Given the description of an element on the screen output the (x, y) to click on. 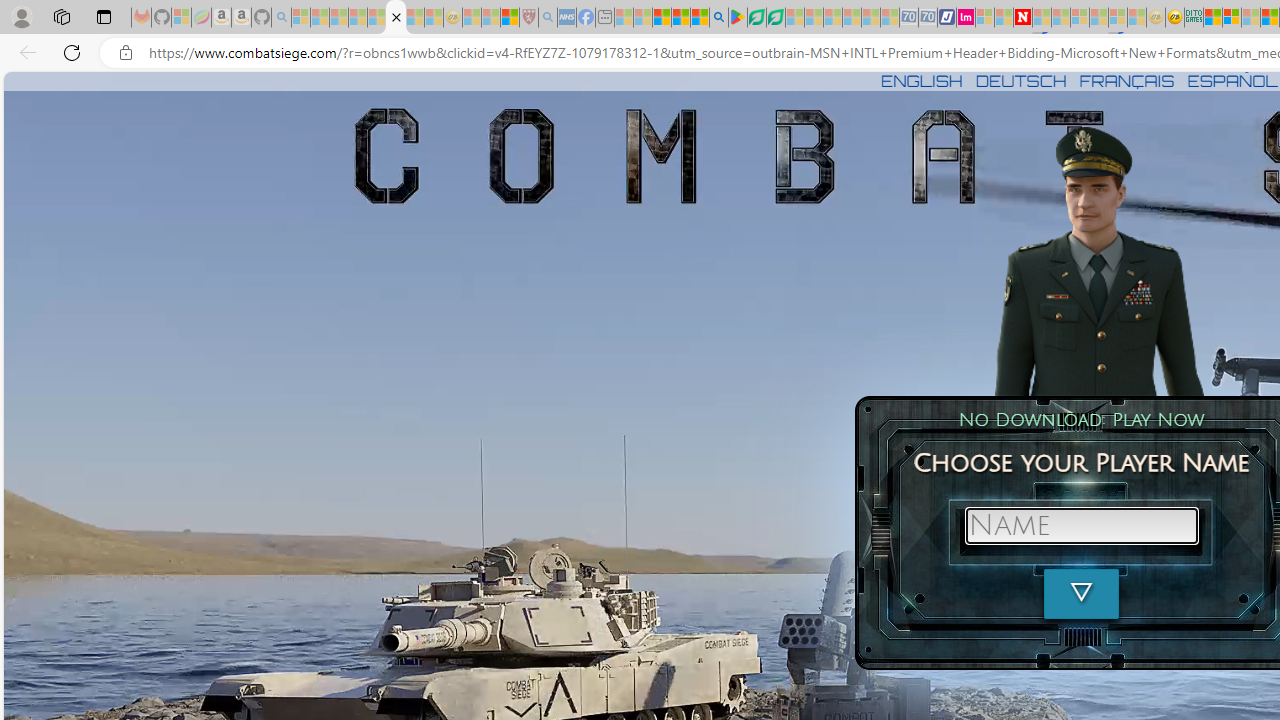
DEUTSCH (1021, 80)
Trusted Community Engagement and Contributions | Guidelines (1041, 17)
MSNBC - MSN (1213, 17)
Local - MSN (509, 17)
To get missing image descriptions, open the context menu. (1099, 261)
MSNBC - MSN - Sleeping (623, 17)
